Given the description of an element on the screen output the (x, y) to click on. 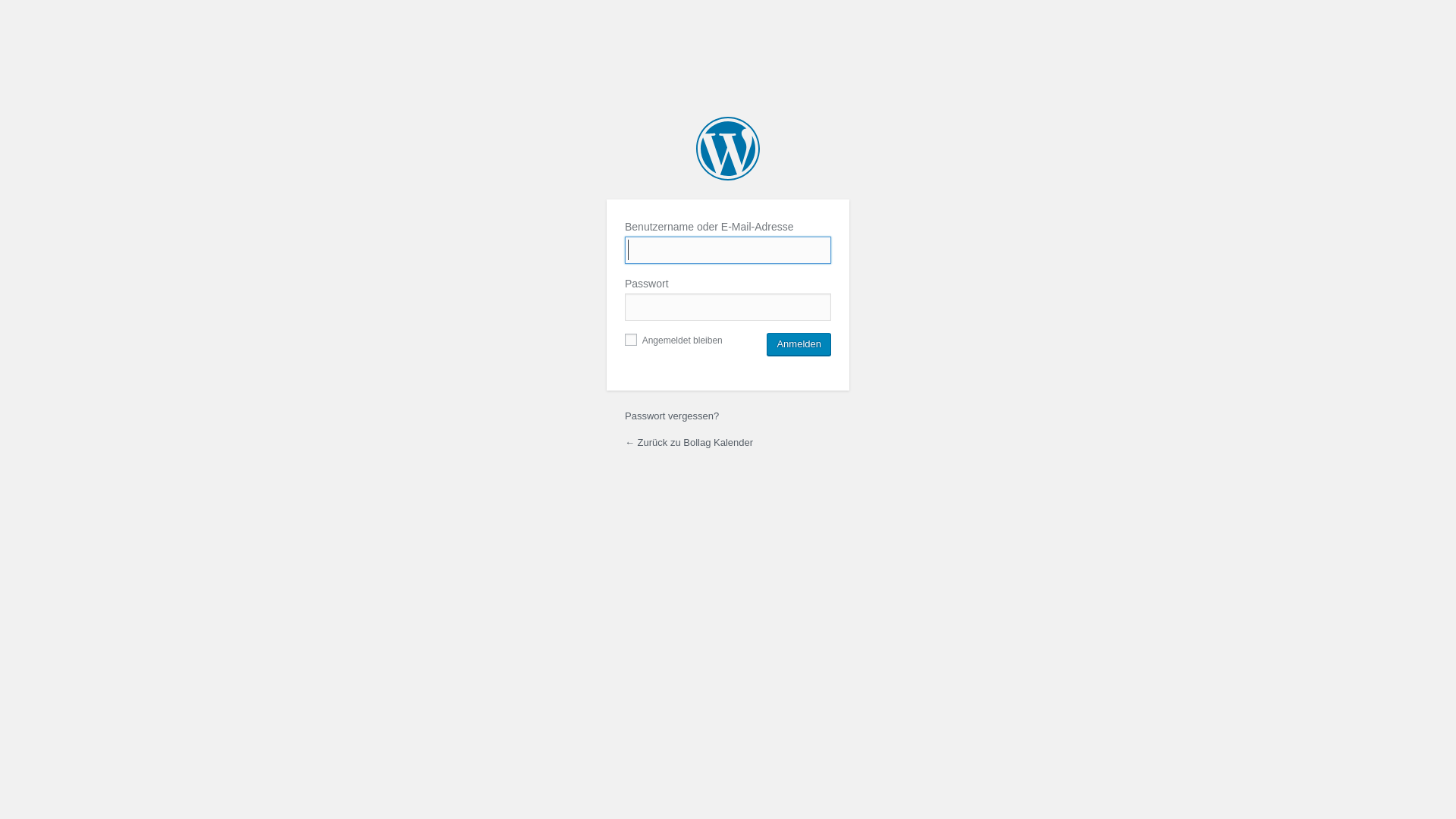
Passwort vergessen? Element type: text (671, 415)
Powered by WordPress Element type: text (727, 148)
Anmelden Element type: text (798, 343)
